Given the description of an element on the screen output the (x, y) to click on. 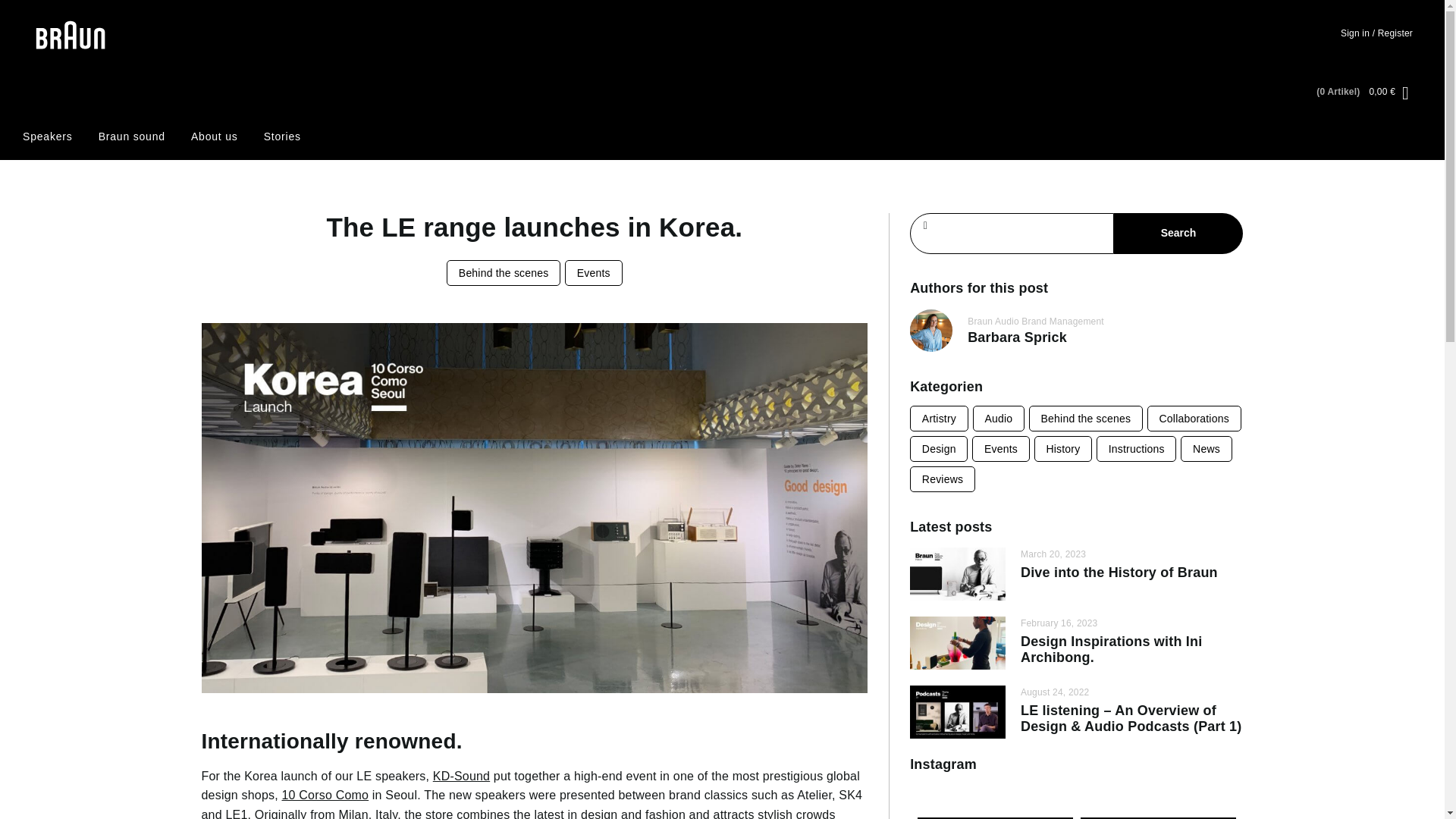
Speakers (47, 135)
Behind the scenes (503, 272)
Speakers (47, 135)
Events (592, 272)
Stories (282, 135)
KD-Sound (460, 775)
Braun sound (131, 135)
About us (213, 135)
About us (213, 135)
Search (1178, 232)
